Given the description of an element on the screen output the (x, y) to click on. 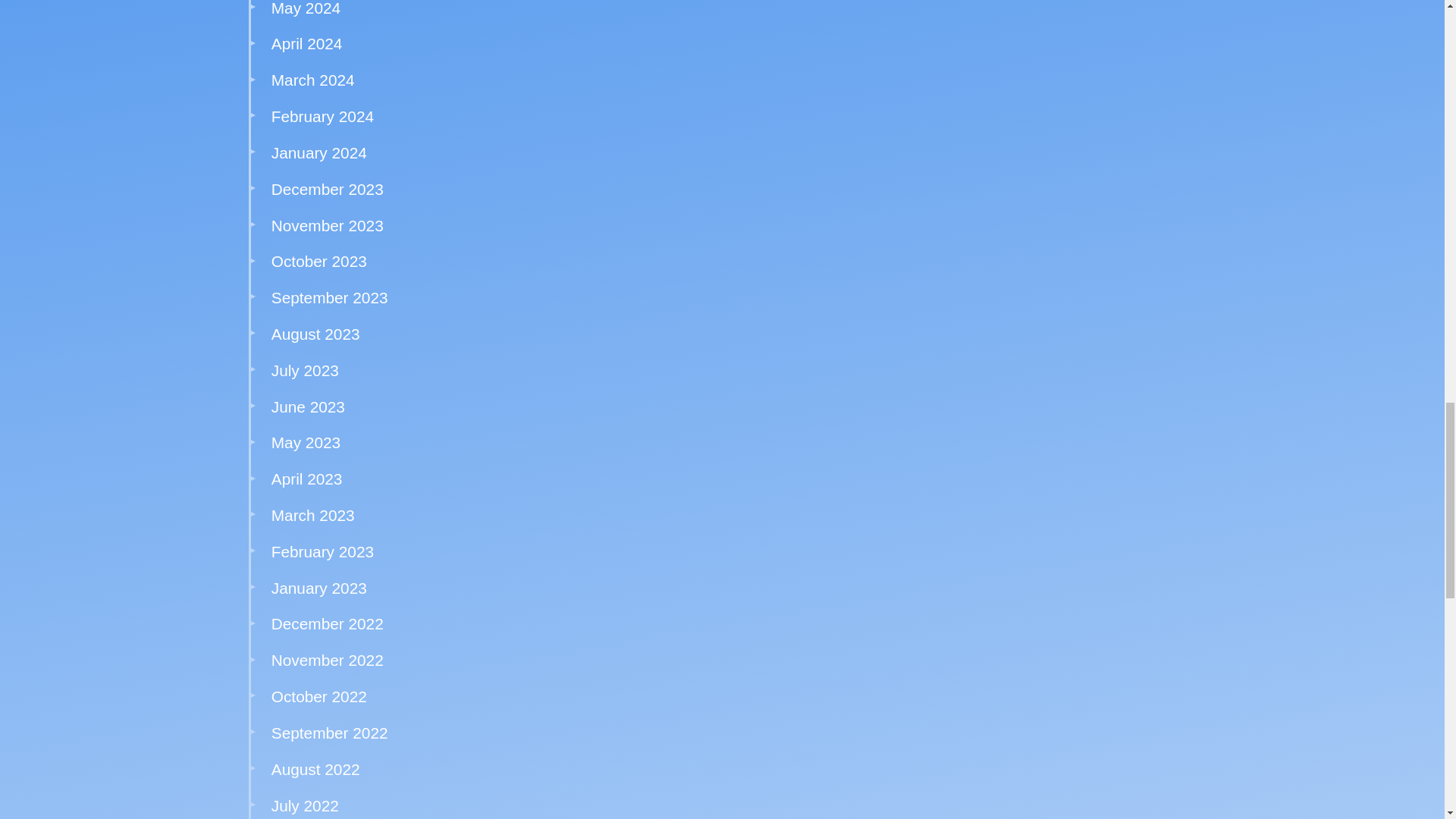
December 2022 (327, 623)
February 2023 (322, 551)
July 2022 (304, 805)
May 2023 (305, 442)
June 2023 (307, 406)
March 2023 (312, 515)
July 2023 (304, 370)
March 2024 (312, 79)
October 2022 (318, 696)
April 2024 (306, 43)
December 2023 (327, 189)
February 2024 (322, 116)
October 2023 (318, 261)
November 2022 (327, 660)
April 2023 (306, 478)
